Given the description of an element on the screen output the (x, y) to click on. 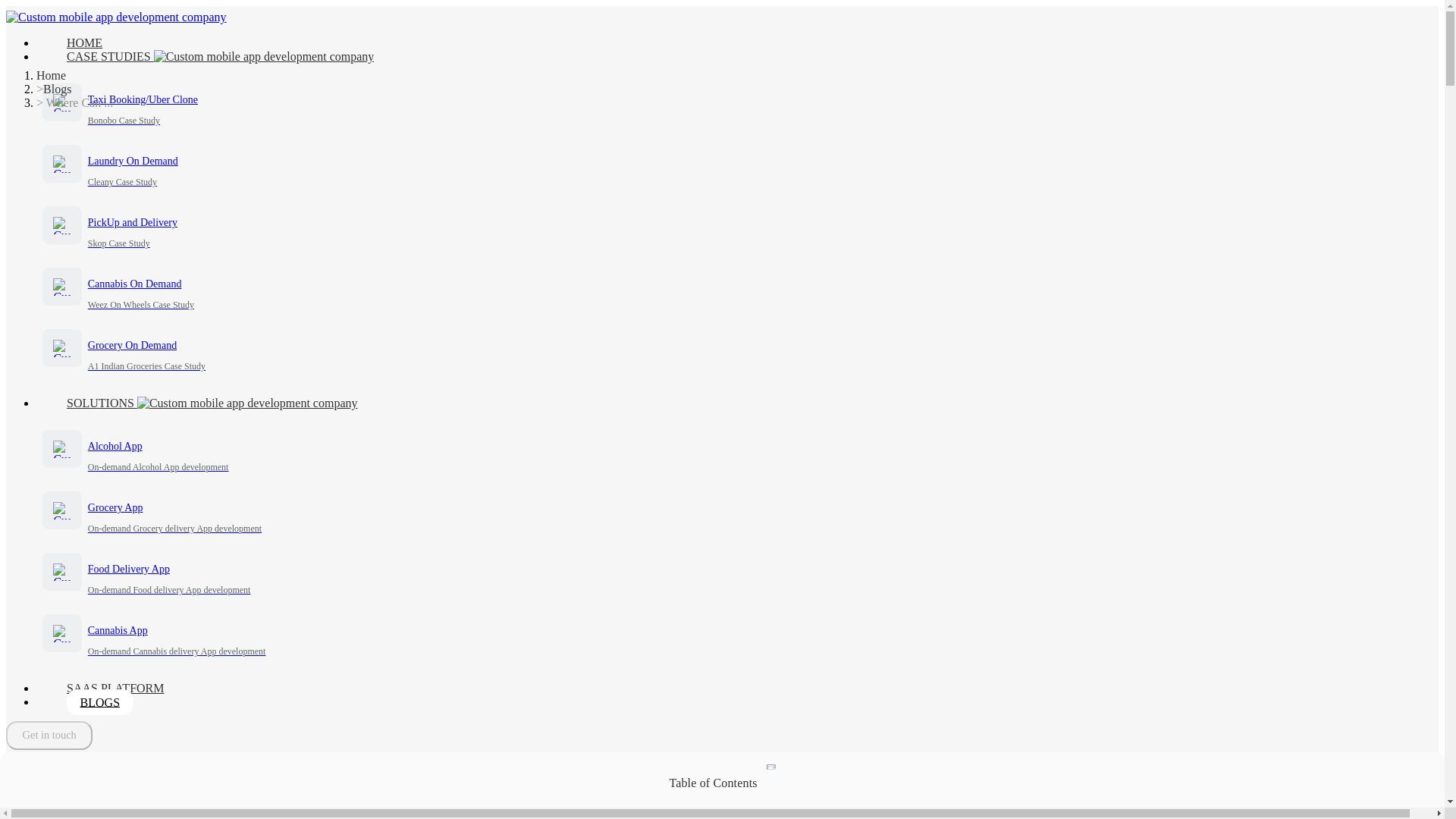
 Get in touch  (49, 735)
SAAS PLATFORM (737, 576)
HOME (114, 687)
CASE STUDIES (737, 352)
SOLUTIONS (737, 291)
BLOGS (83, 42)
Blogs (220, 56)
Home (737, 514)
